Given the description of an element on the screen output the (x, y) to click on. 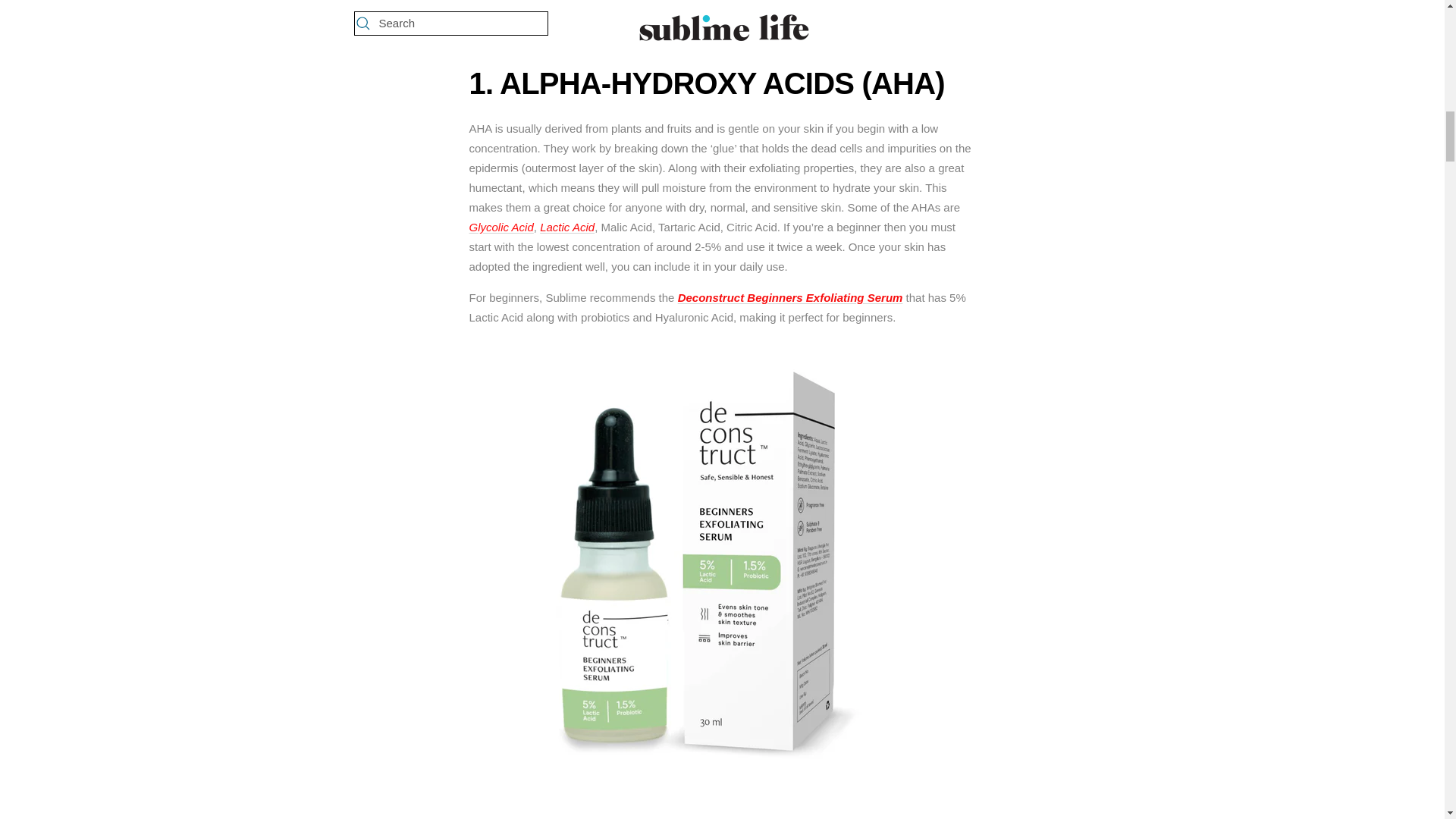
Beginners Exfoliating Serum (823, 297)
Lactic Acid (567, 226)
Glycolic Acid (500, 226)
Deconstruct (711, 297)
